Given the description of an element on the screen output the (x, y) to click on. 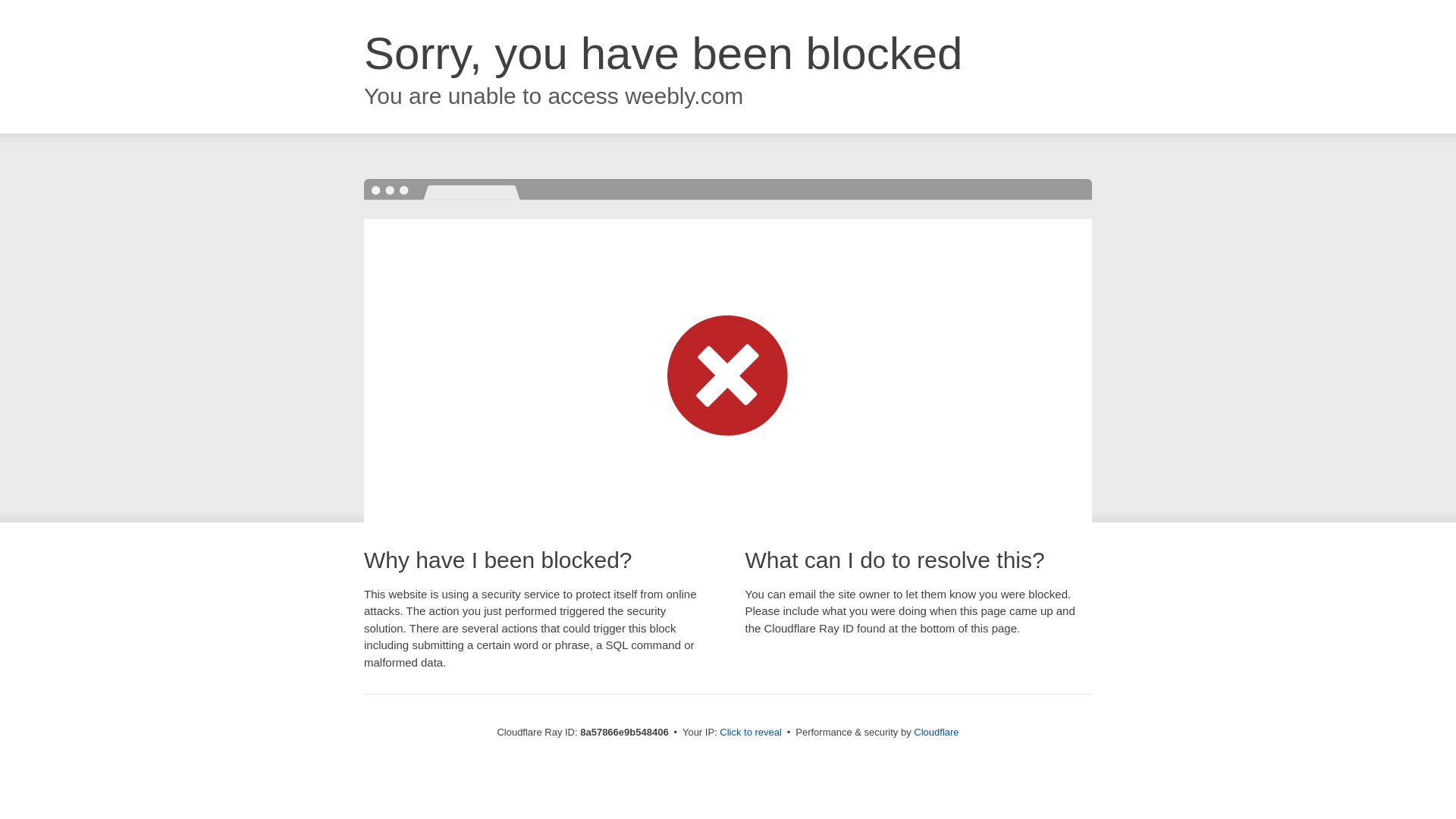
Click to reveal (750, 732)
Cloudflare (936, 731)
